Given the description of an element on the screen output the (x, y) to click on. 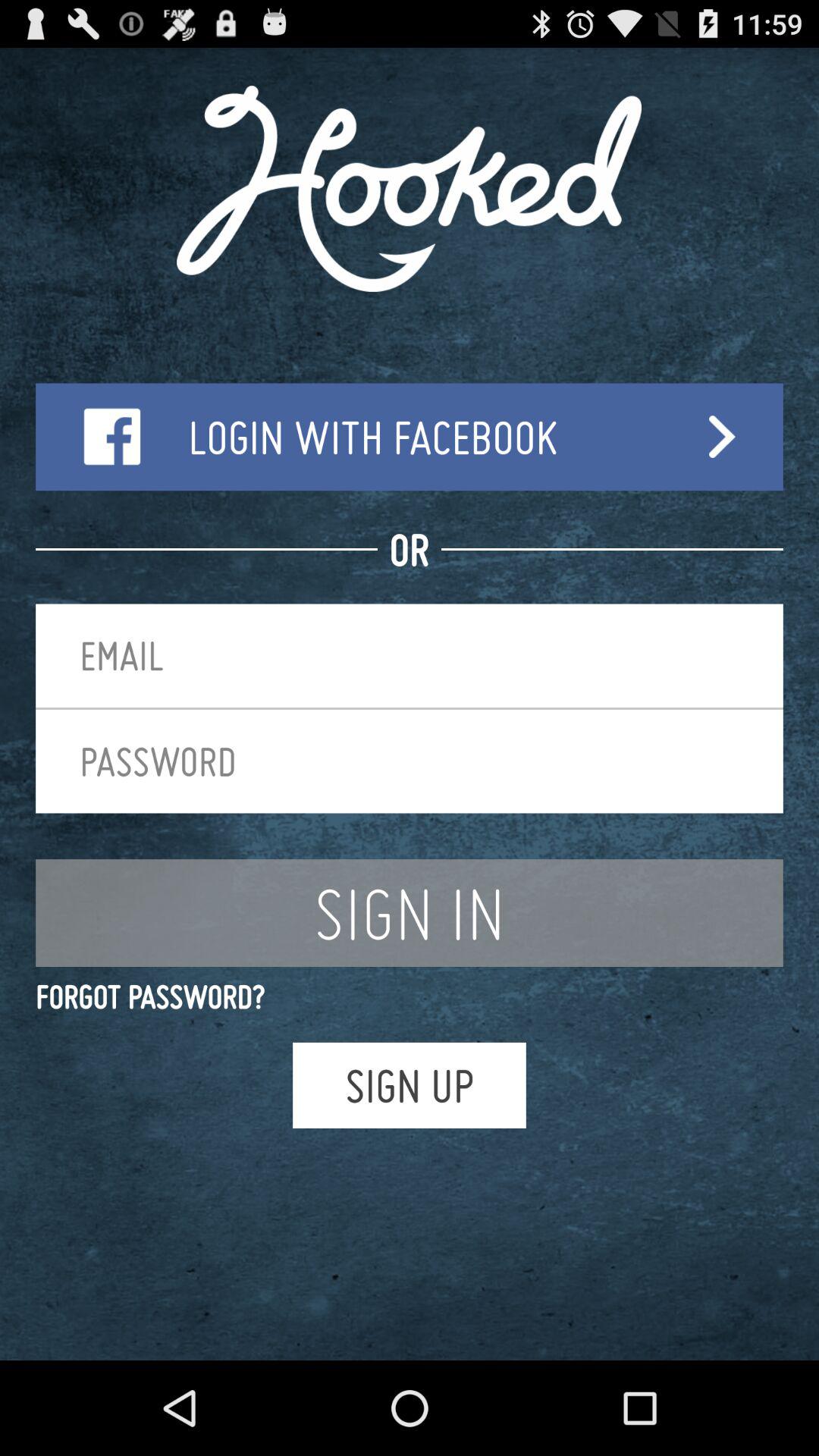
jump until the sign in icon (409, 912)
